Given the description of an element on the screen output the (x, y) to click on. 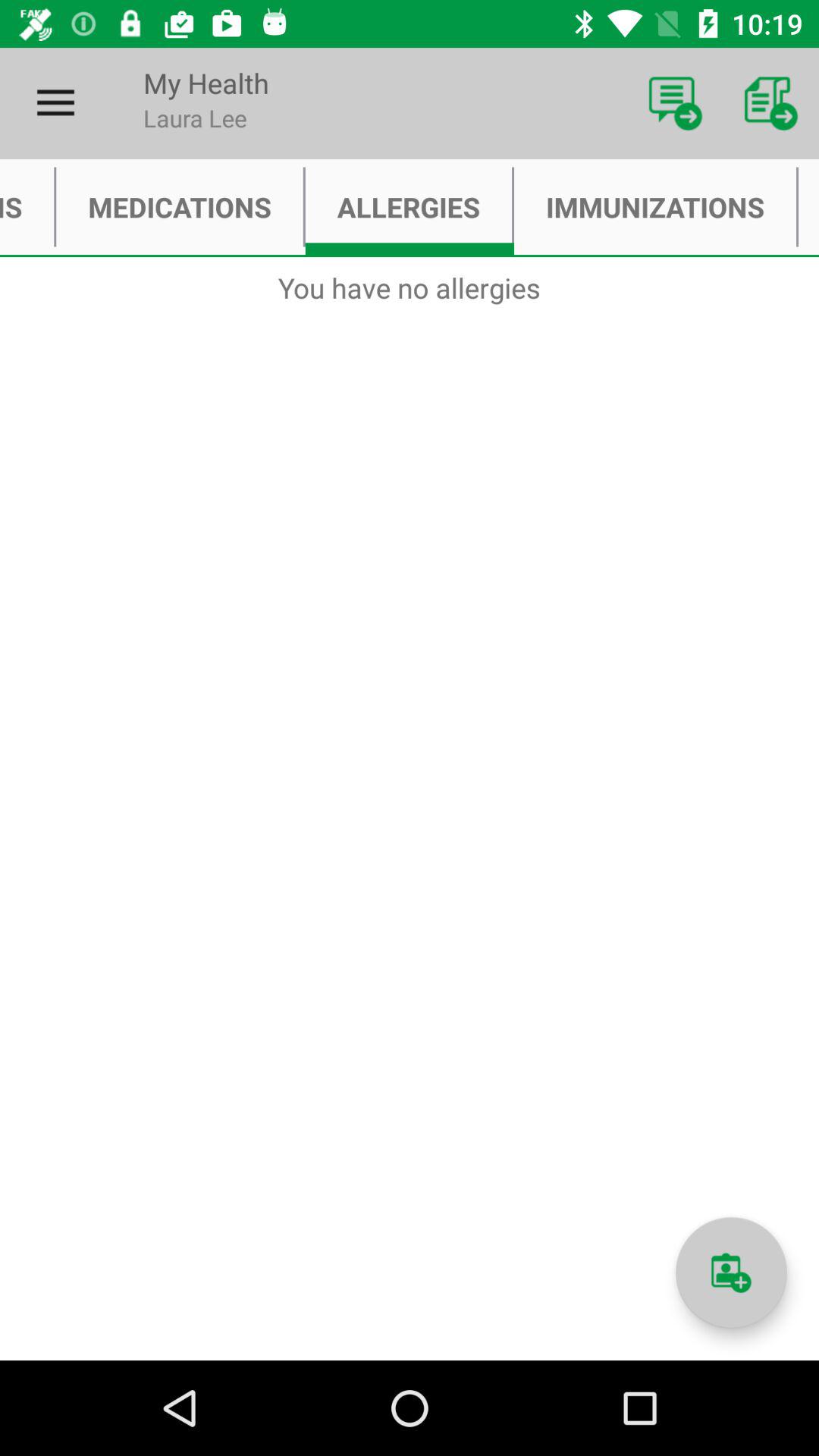
add item (731, 1272)
